Given the description of an element on the screen output the (x, y) to click on. 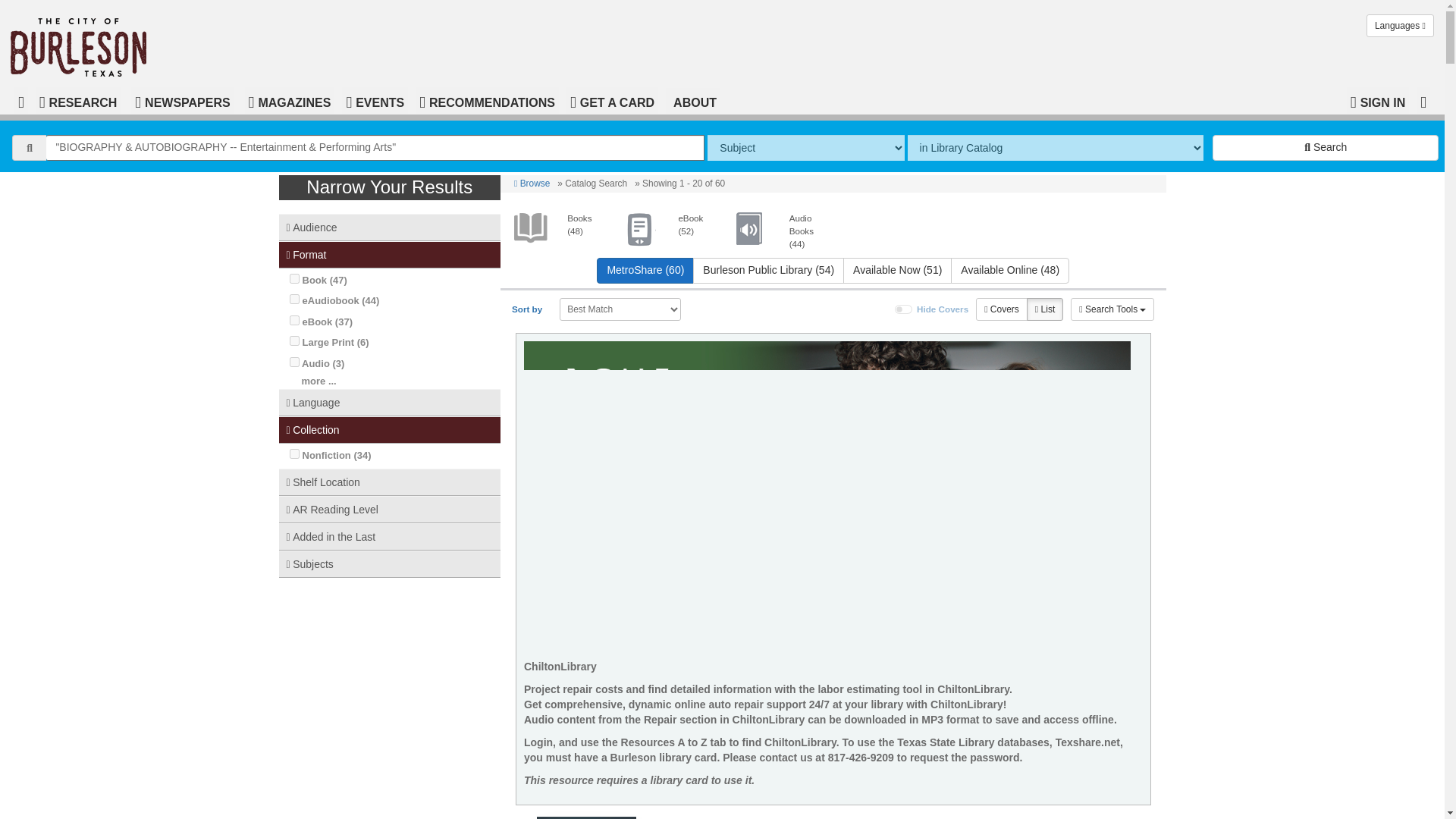
on (294, 298)
on (294, 361)
EVENTS (374, 100)
MAGAZINES (289, 100)
NEWSPAPERS (181, 100)
on (294, 453)
on (294, 278)
Languages  (1400, 25)
RESEARCH (77, 100)
GET A CARD (612, 100)
RECOMMENDATIONS (486, 100)
Return to Catalog Home (82, 43)
on (903, 308)
on (294, 340)
ABOUT (692, 100)
